Given the description of an element on the screen output the (x, y) to click on. 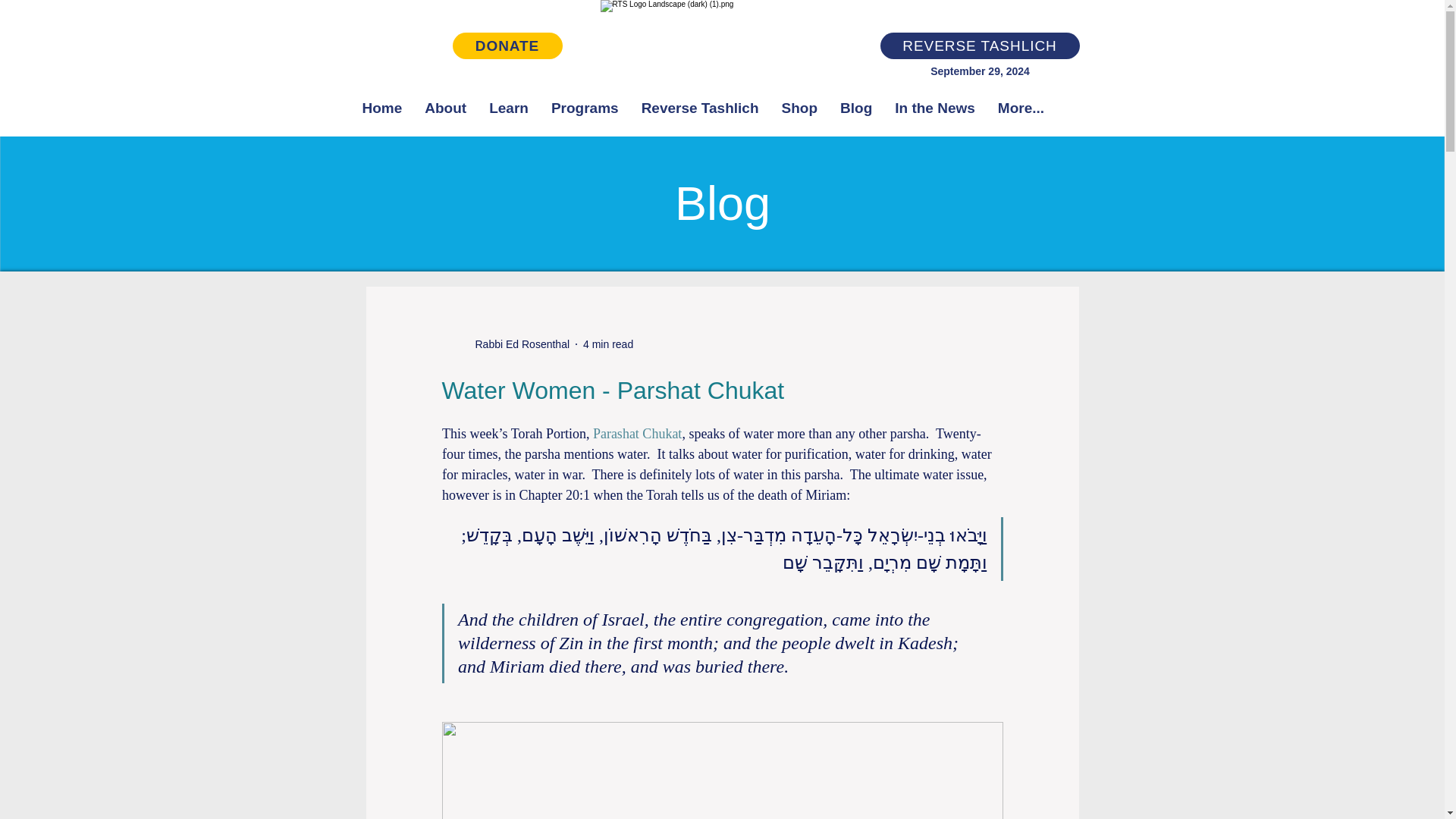
Home (381, 117)
Parashat Chukat (636, 433)
Blog (855, 117)
DONATE (506, 45)
4 min read (608, 344)
Rabbi Ed Rosenthal (517, 344)
REVERSE TASHLICH (978, 45)
Rabbi Ed Rosenthal (505, 344)
Shop (799, 117)
In the News (935, 117)
